Given the description of an element on the screen output the (x, y) to click on. 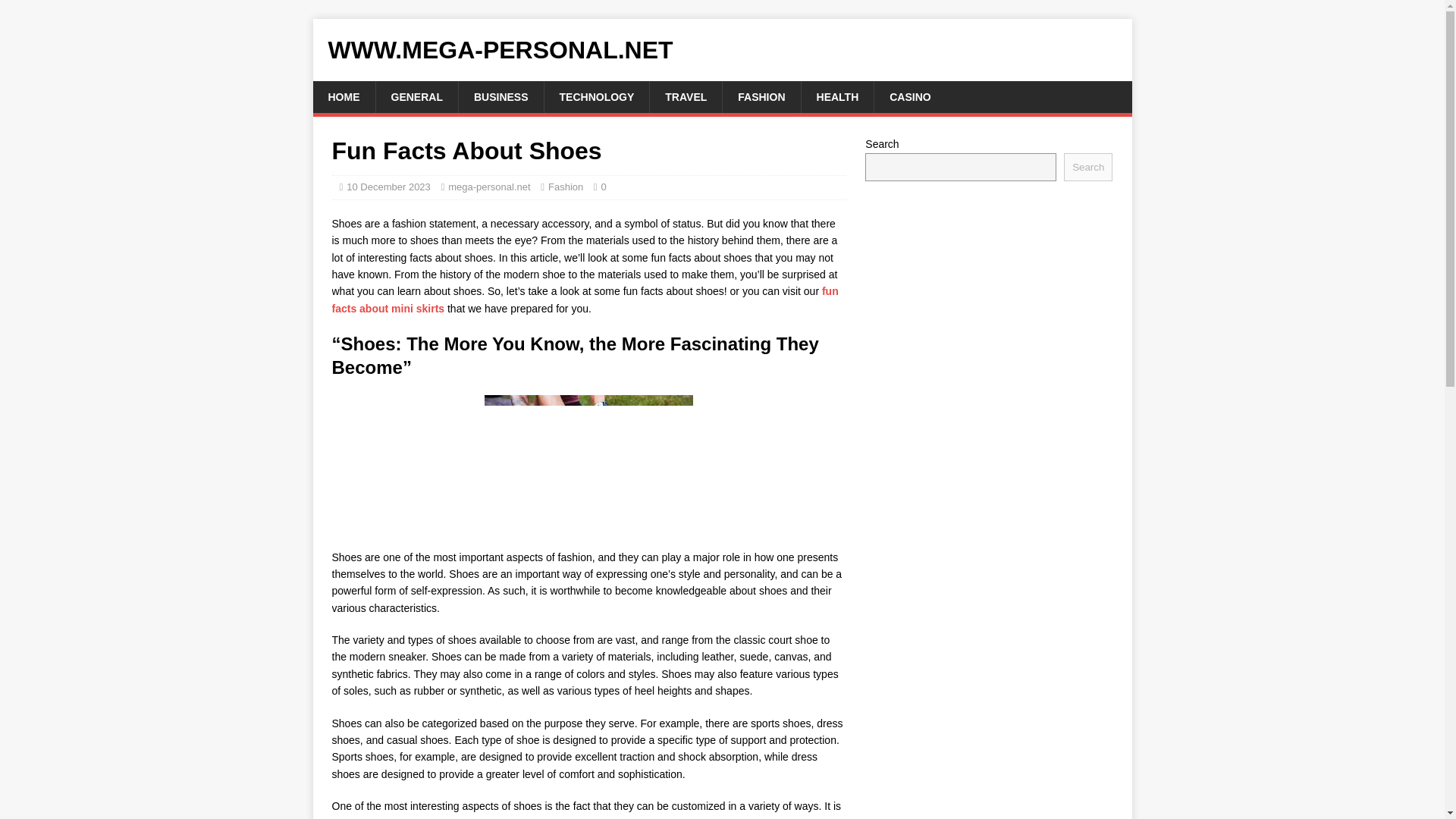
CASINO (908, 97)
10 December 2023 (388, 186)
TECHNOLOGY (596, 97)
Www.Mega-Personal.Net (721, 49)
mega-personal.net (488, 186)
GENERAL (415, 97)
HEALTH (837, 97)
TRAVEL (685, 97)
HOME (343, 97)
WWW.MEGA-PERSONAL.NET (721, 49)
